Given the description of an element on the screen output the (x, y) to click on. 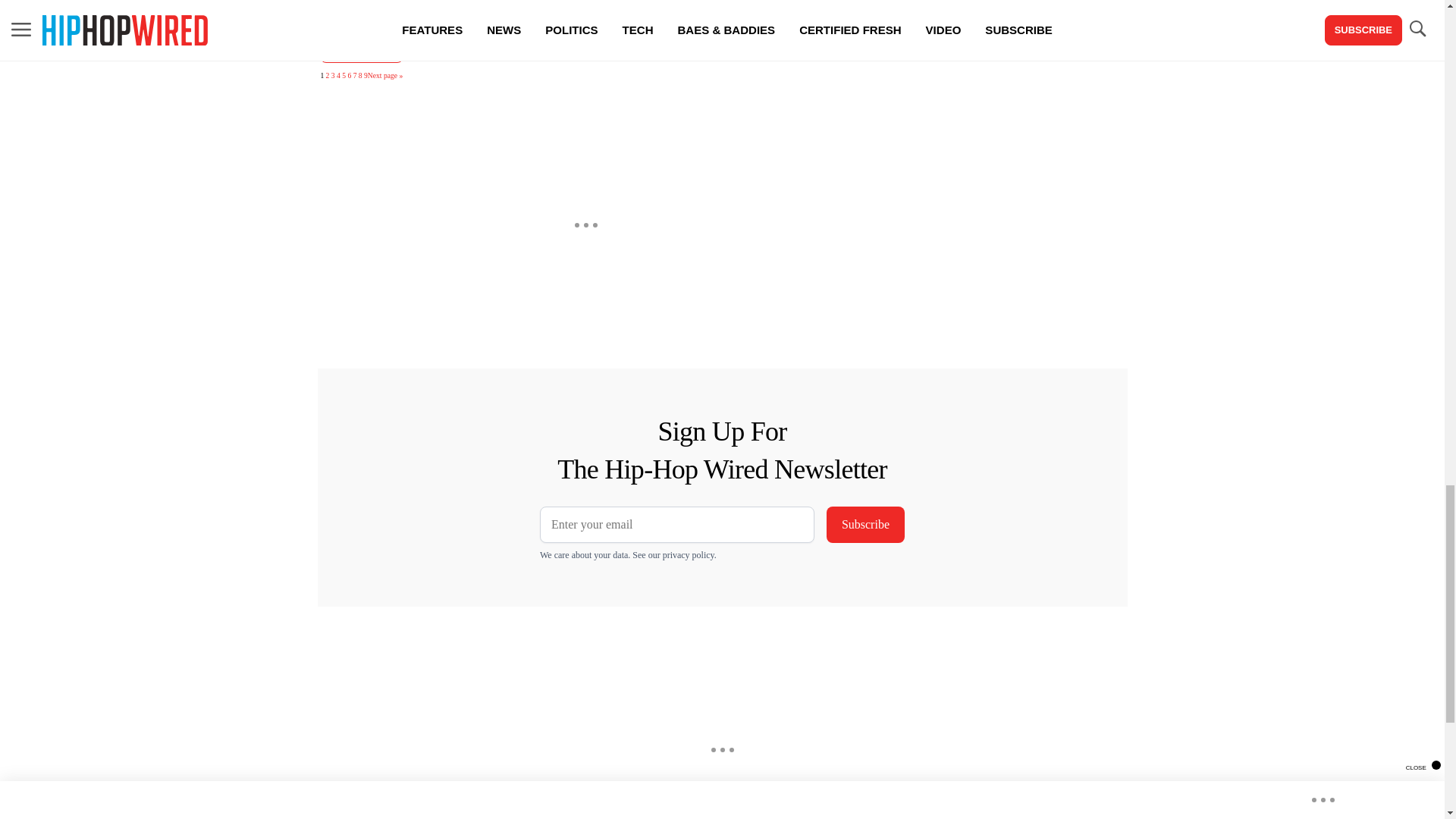
privacy policy (688, 554)
TELEVISION (361, 49)
Subscribe (865, 524)
